Given the description of an element on the screen output the (x, y) to click on. 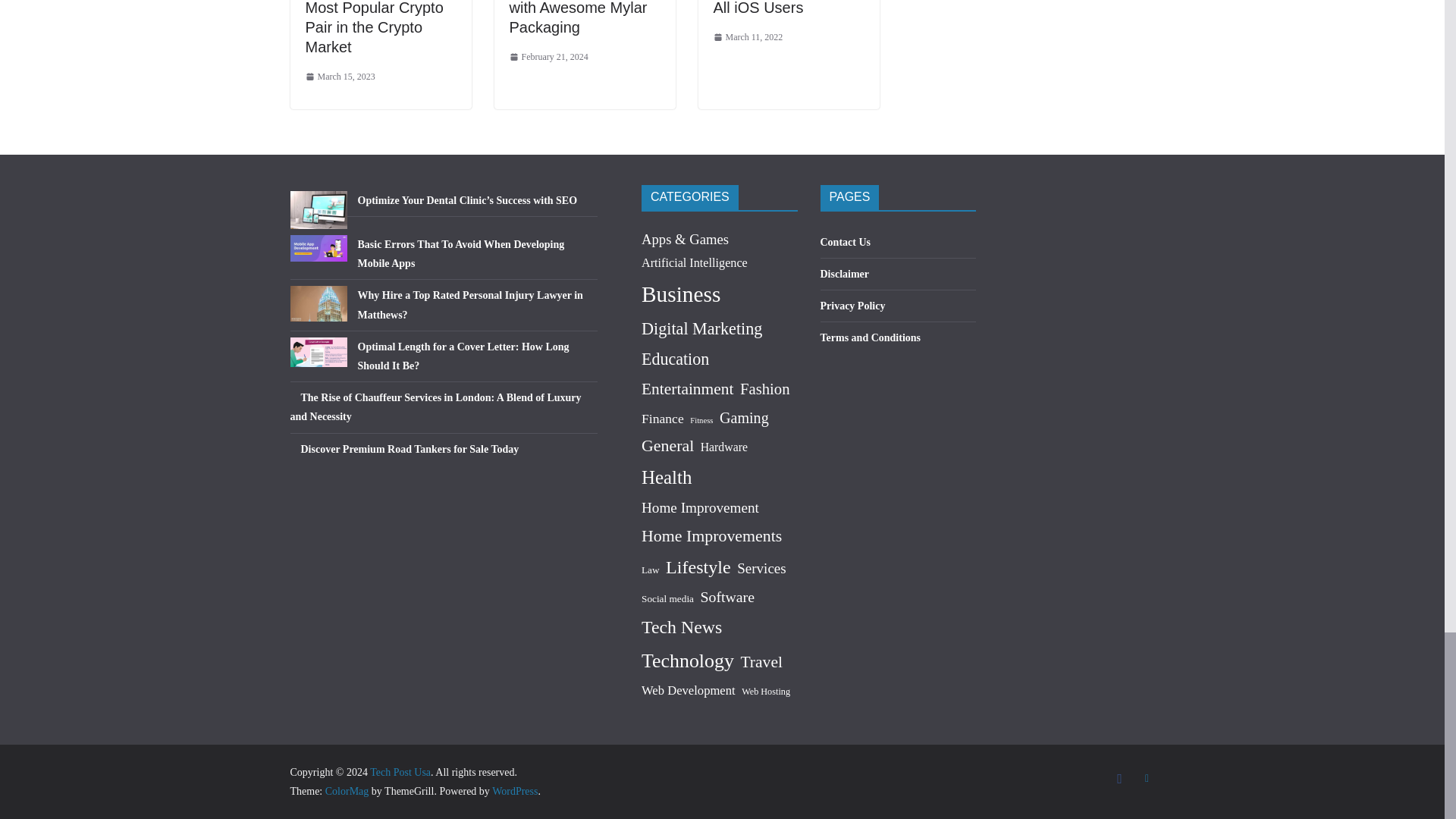
5:52 PM (548, 57)
March 15, 2023 (339, 76)
9:33 PM (339, 76)
